Given the description of an element on the screen output the (x, y) to click on. 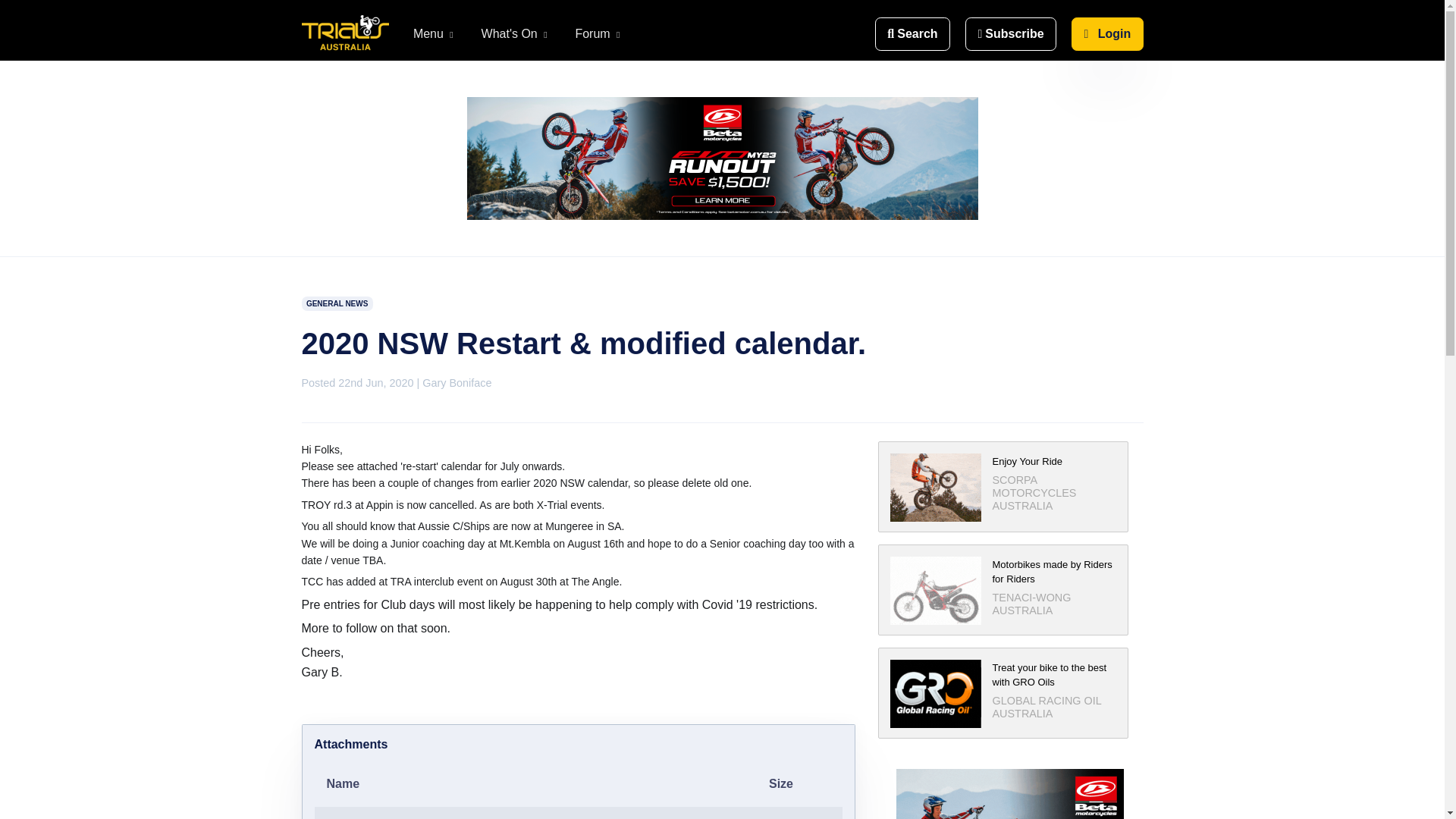
Menu (434, 34)
Forum (598, 34)
What's On (515, 34)
